Given the description of an element on the screen output the (x, y) to click on. 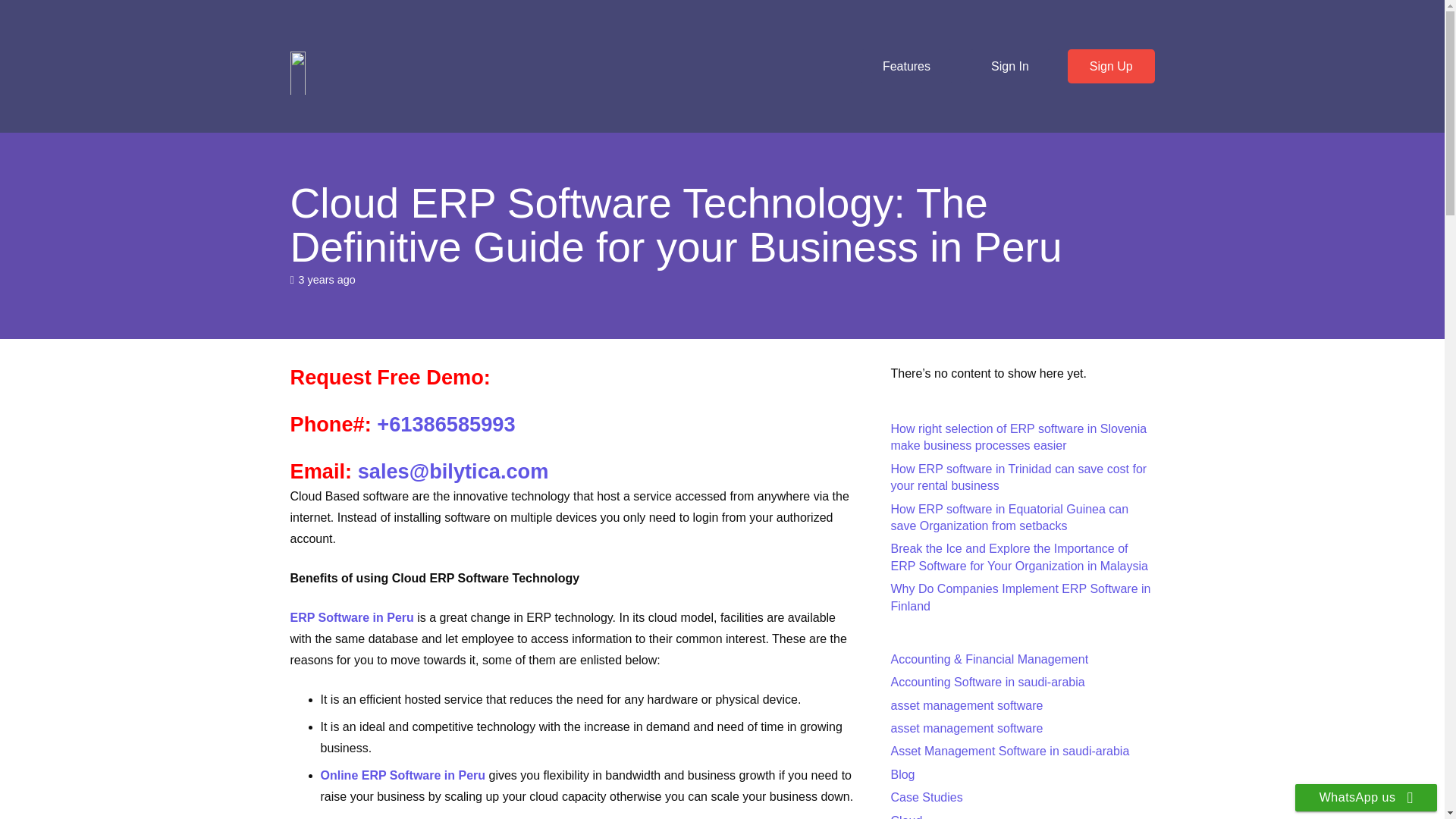
Features (906, 66)
Cloud (905, 816)
Case Studies (925, 797)
Online ERP Software in Peru (402, 775)
asset management software (965, 727)
Blog (901, 774)
Sign In (1009, 66)
